Given the description of an element on the screen output the (x, y) to click on. 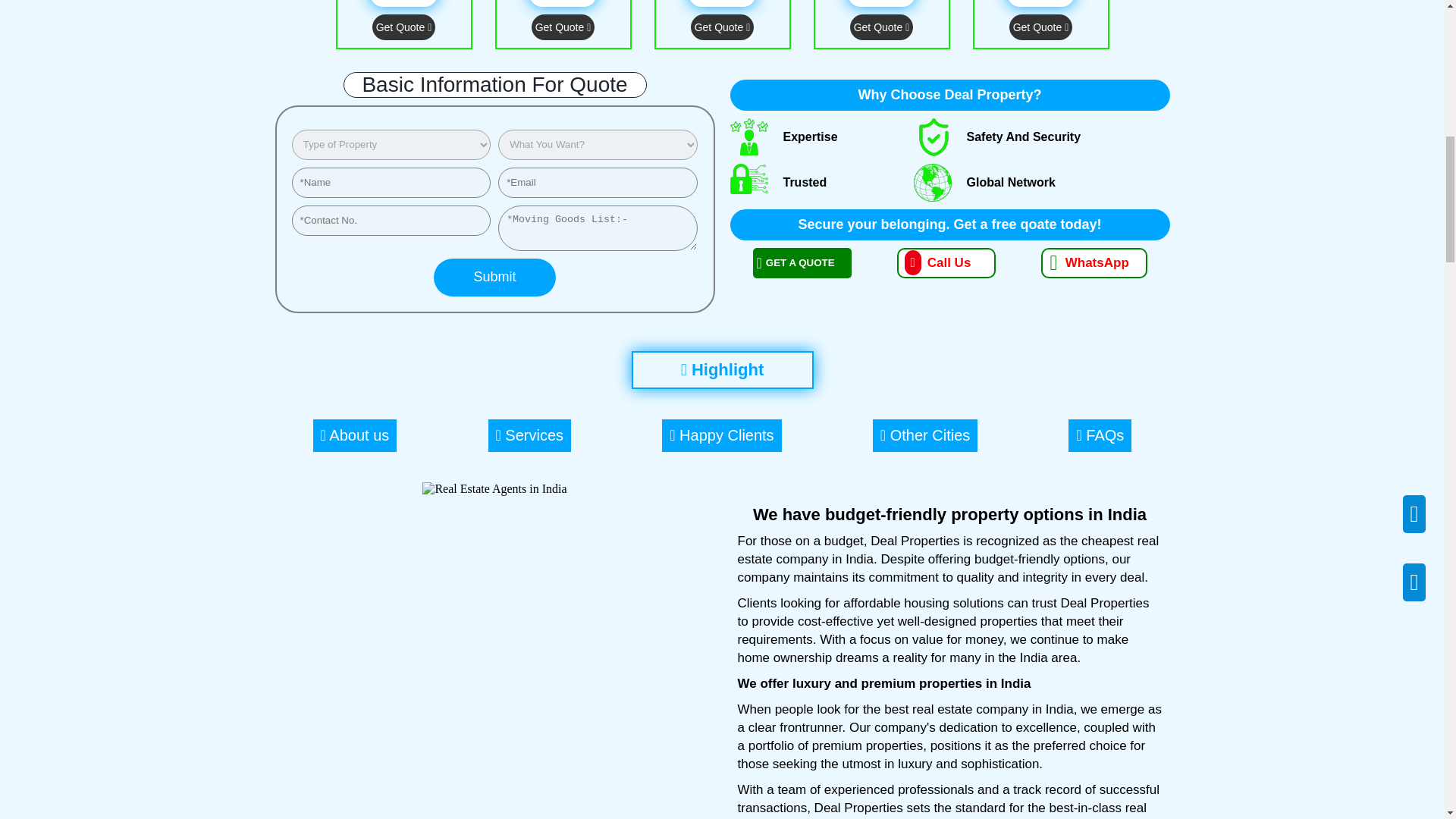
WhatsApp (1085, 262)
FAQs (1099, 434)
WhatsApp (1094, 263)
Read More (402, 3)
Get Quote (563, 27)
Call Us (945, 262)
Happy Clients (721, 434)
Get Quote (1041, 27)
GET A QUOTE (801, 263)
Call Us (945, 263)
Read More (562, 3)
Read More (1040, 3)
Read More (880, 3)
Get Quote (403, 27)
Get Quote (882, 27)
